Given the description of an element on the screen output the (x, y) to click on. 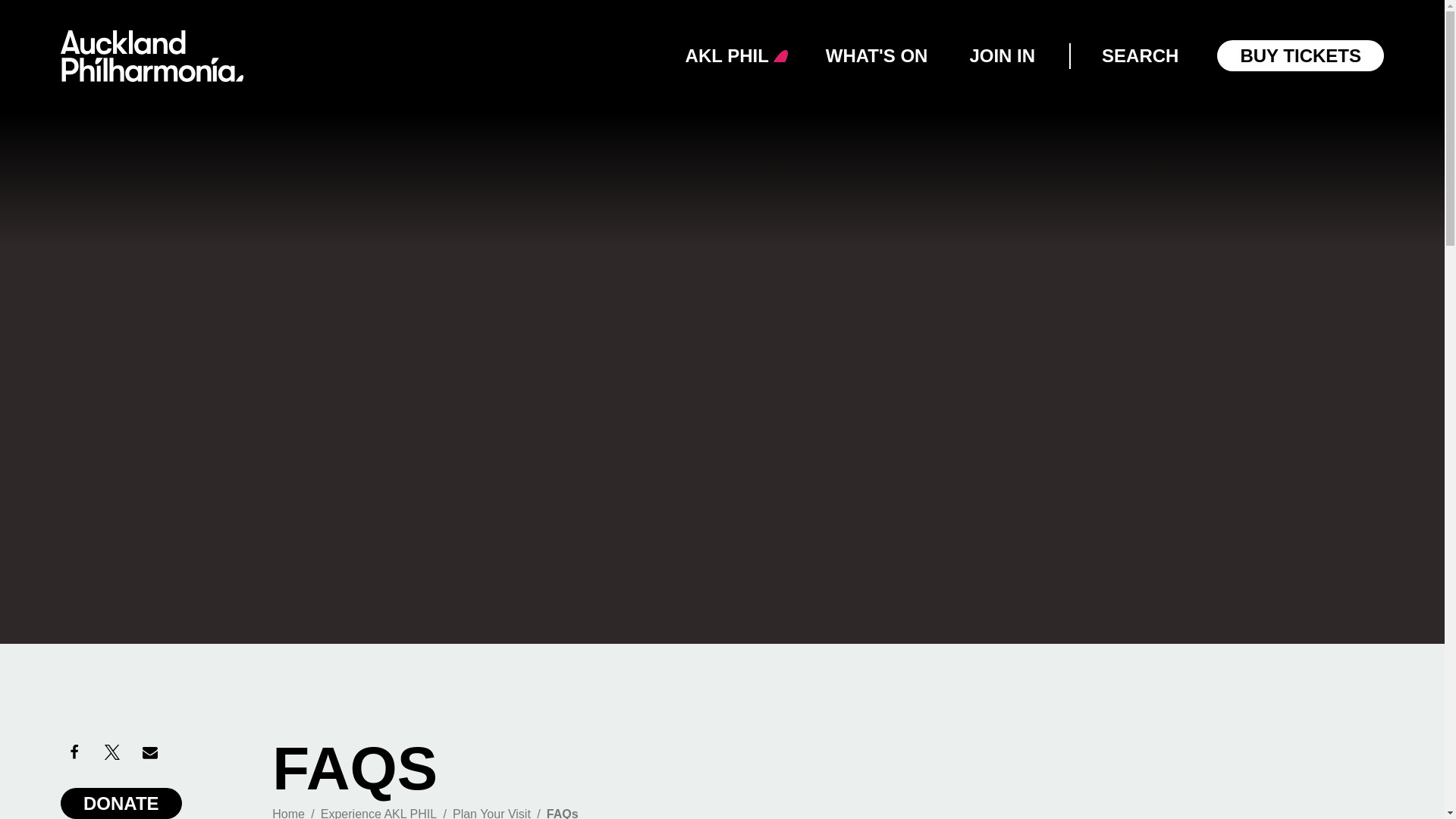
Breadcrumb link to Home (288, 813)
Breadcrumb link to Experience AKL PHIL (378, 813)
Search (61, 15)
Breadcrumb link to Plan Your Visit (491, 813)
AKL PHIL (727, 55)
Share on Facebook (74, 751)
Send by email (149, 751)
Share on X (112, 751)
